Given the description of an element on the screen output the (x, y) to click on. 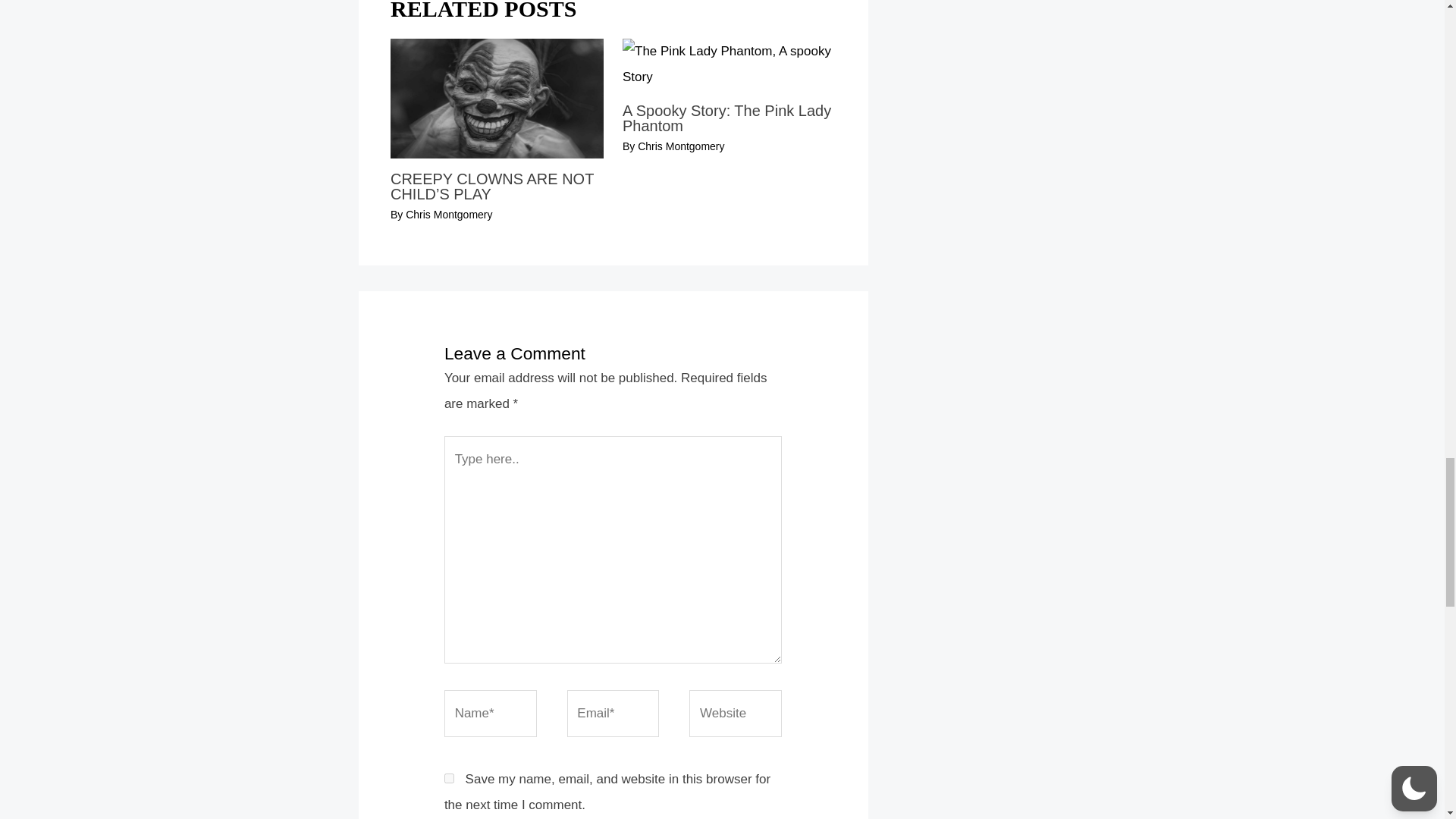
View all posts by Chris Montgomery (449, 214)
View all posts by Chris Montgomery (680, 146)
yes (449, 777)
